Given the description of an element on the screen output the (x, y) to click on. 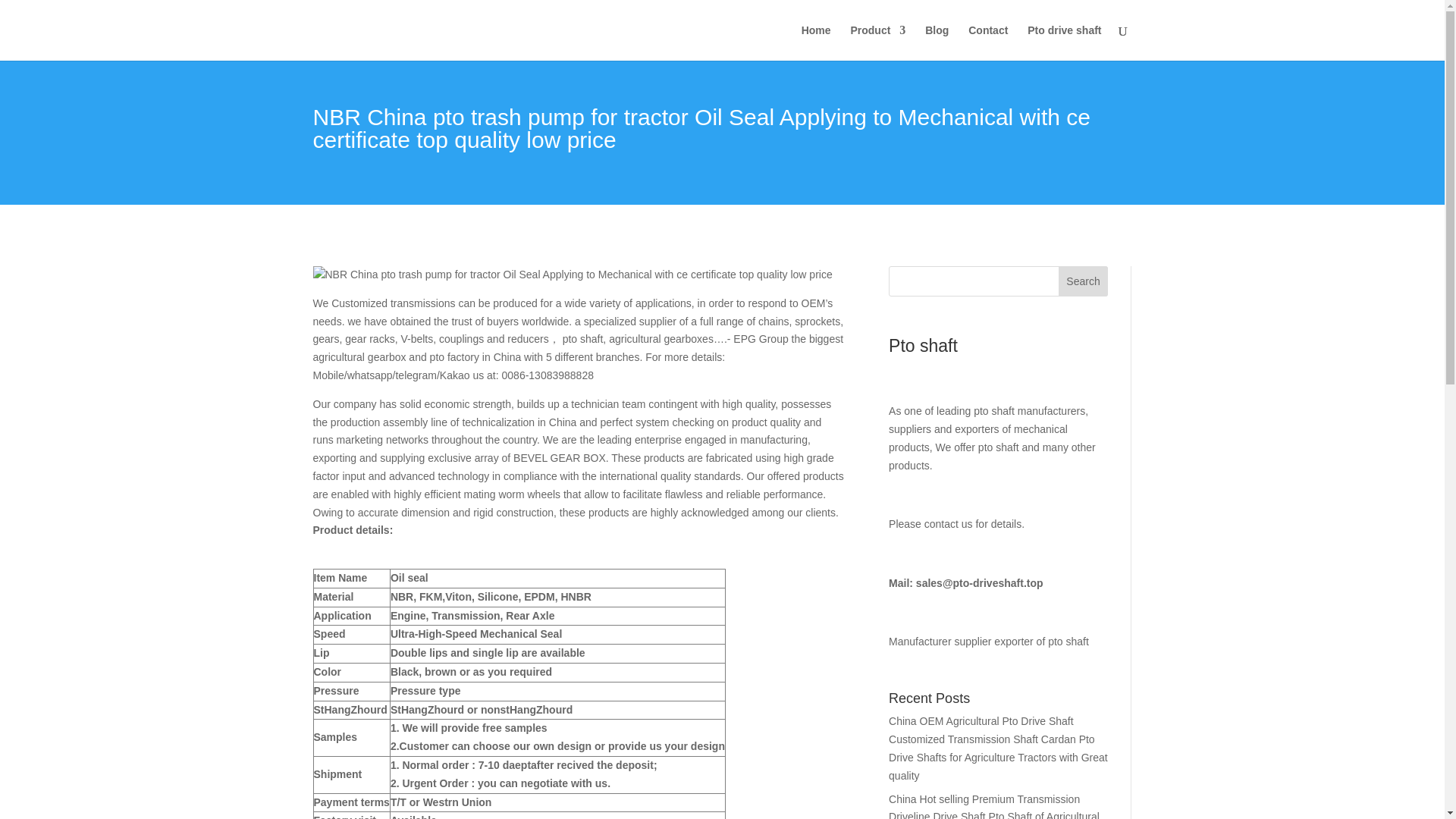
Search (1083, 281)
Contact (987, 42)
Home (816, 42)
Pto drive shaft (1063, 42)
Blog (936, 42)
Product (877, 42)
